Given the description of an element on the screen output the (x, y) to click on. 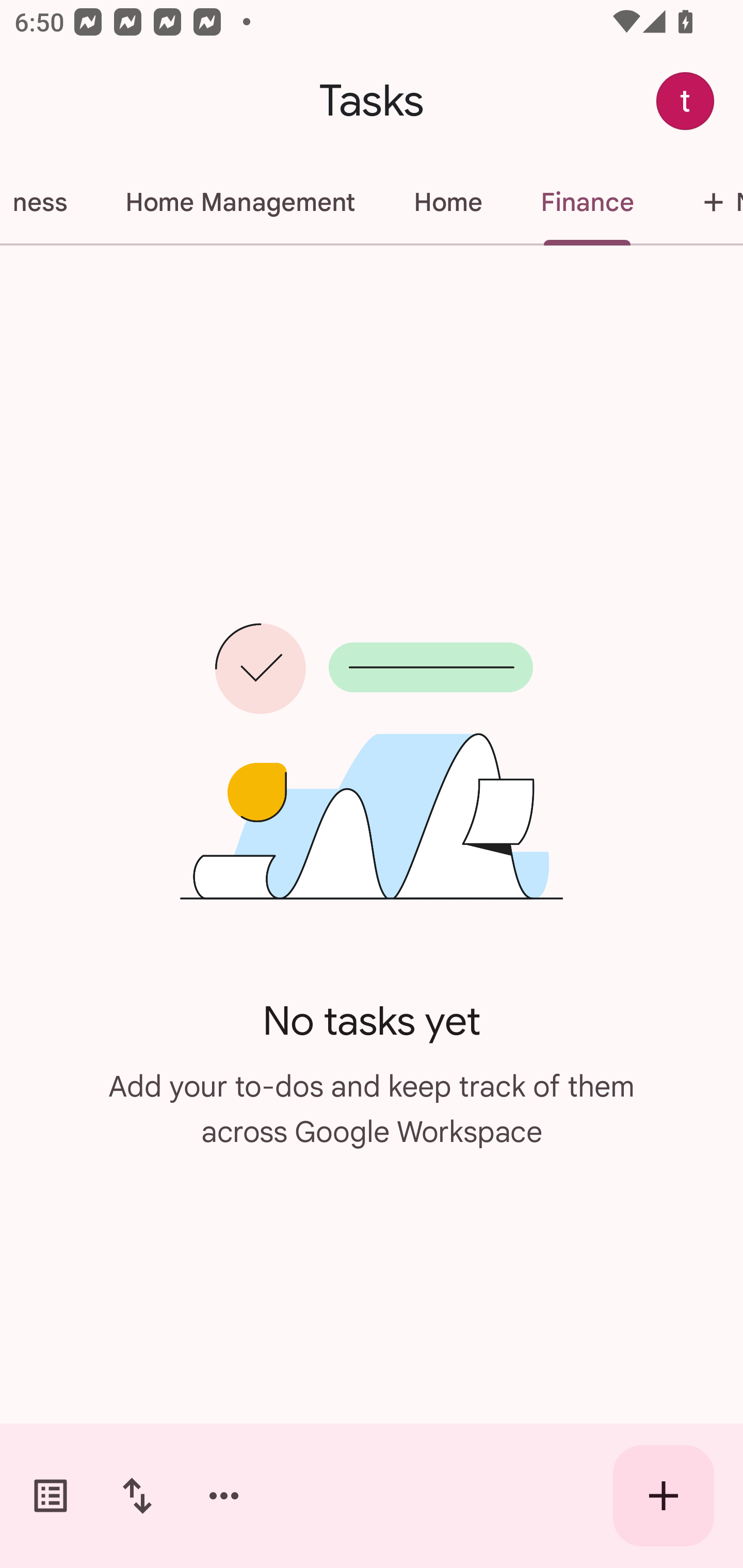
Fitness (47, 202)
Home Management (239, 202)
Home (447, 202)
Switch task lists (50, 1495)
Create new task (663, 1495)
Change sort order (136, 1495)
More options (223, 1495)
